Given the description of an element on the screen output the (x, y) to click on. 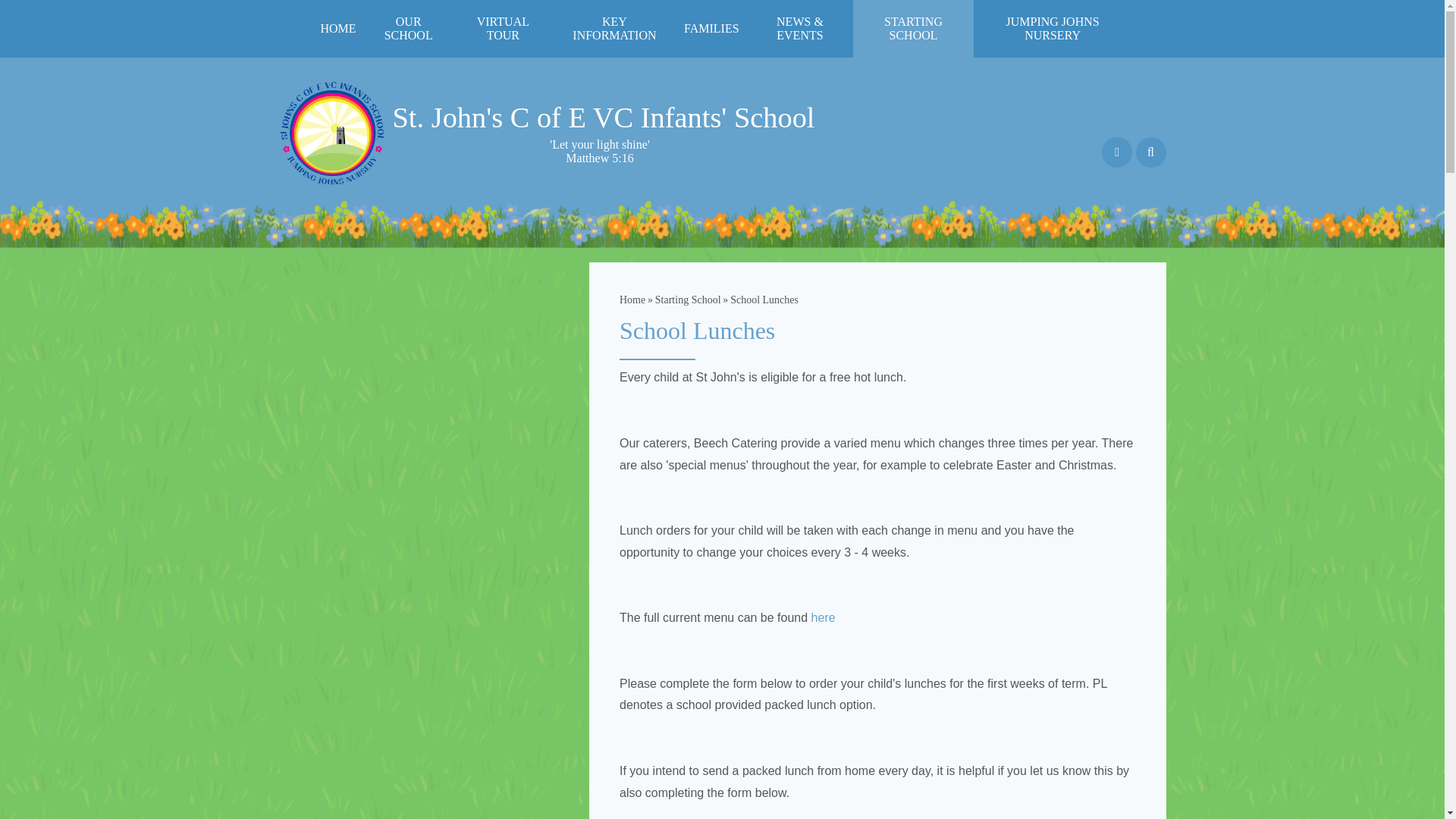
VIRTUAL TOUR (502, 28)
KEY INFORMATION (615, 28)
HOME (337, 28)
Facebook (1117, 152)
OUR SCHOOL (408, 28)
